Given the description of an element on the screen output the (x, y) to click on. 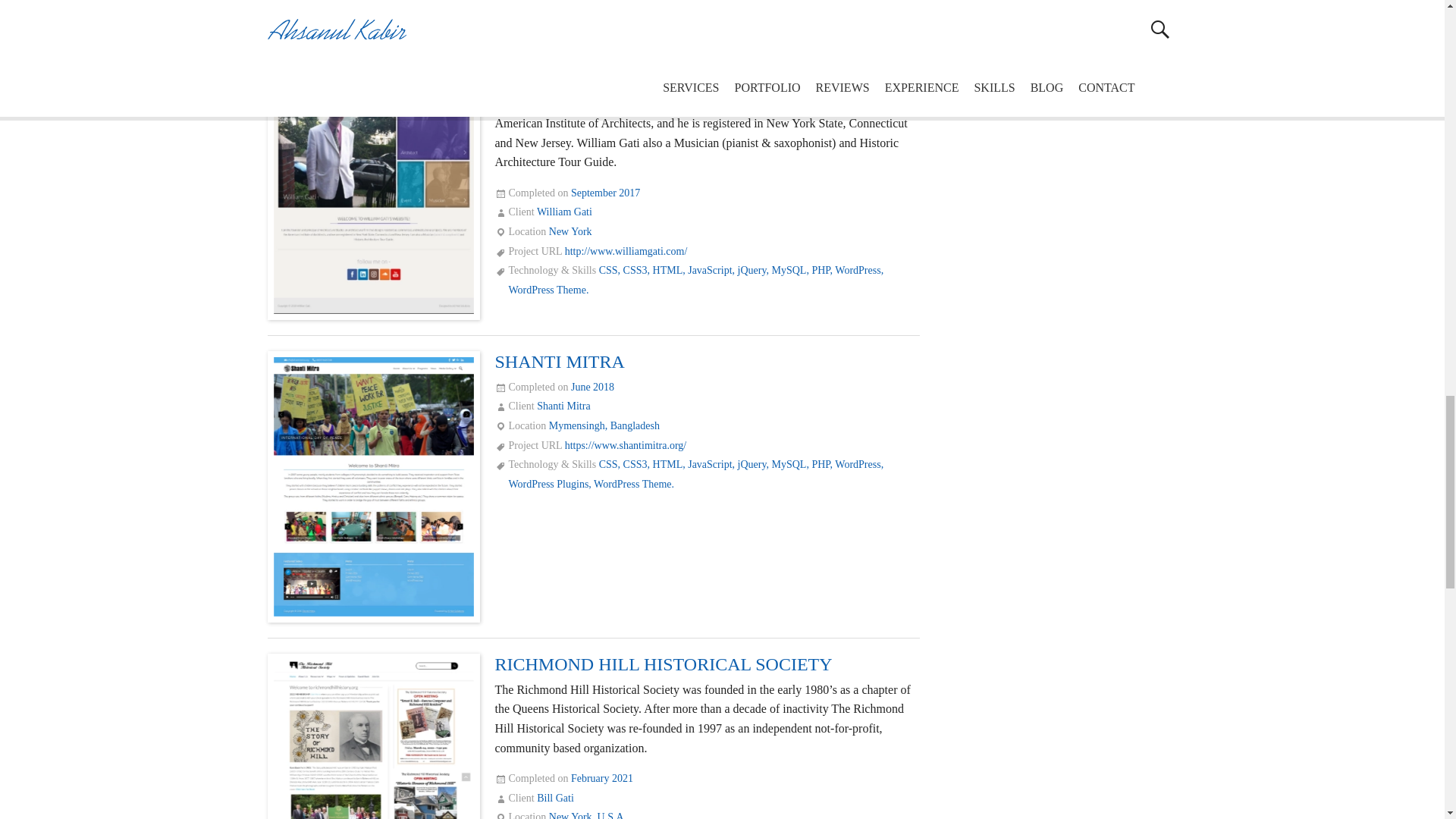
Trust Pest Control (373, 5)
Richmond Hill Historical Society (373, 739)
